Given the description of an element on the screen output the (x, y) to click on. 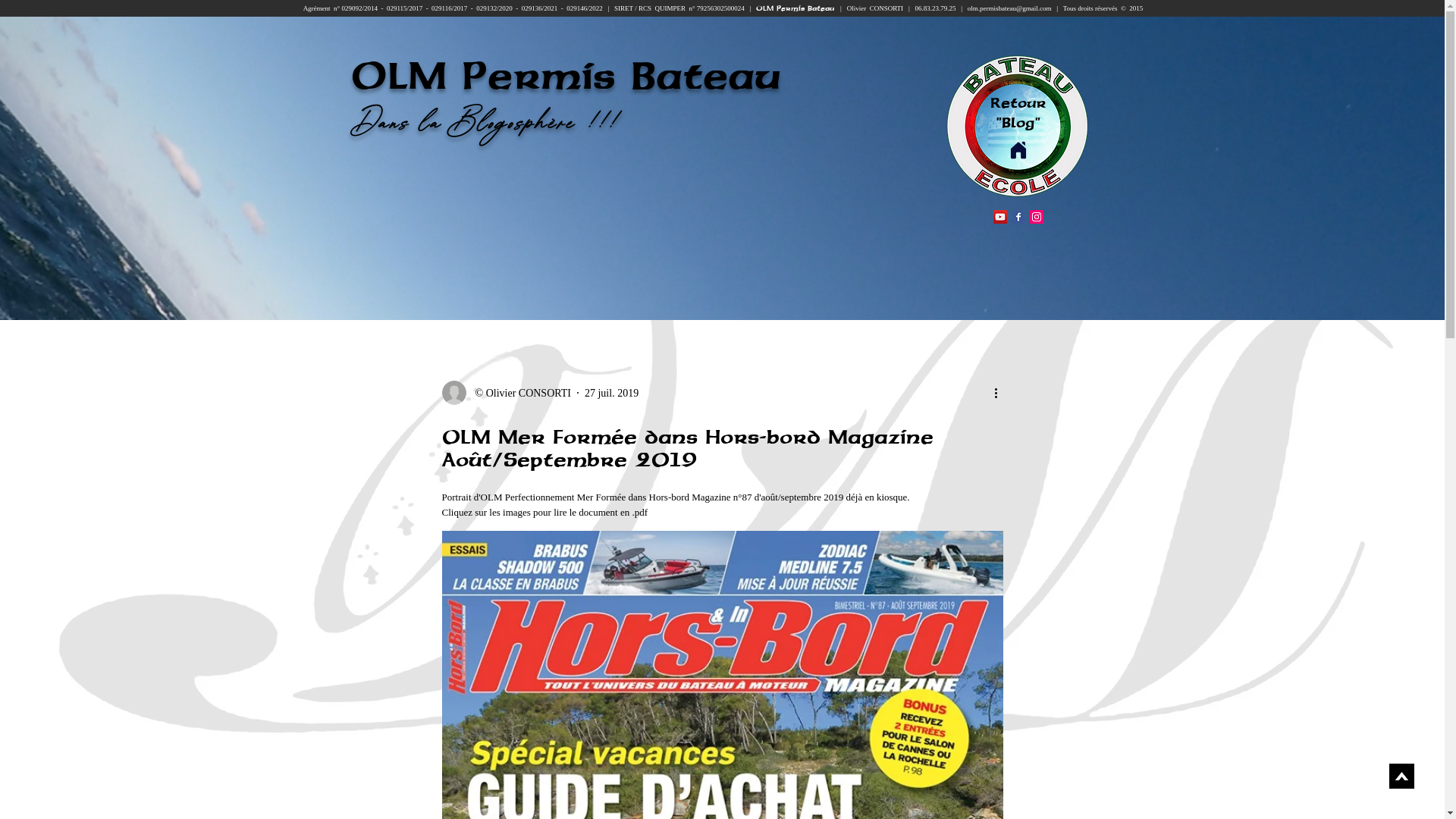
Retour Element type: text (1018, 102)
   06.83.23.79.25    Element type: text (935, 8)
"Blog" Element type: text (1017, 121)
OLM Permis Bateau  Element type: text (798, 7)
| Element type: text (909, 8)
Olivier  CONSORTI    Element type: text (877, 8)
olm.permisbateau@gmail.com   Element type: text (1010, 8)
|    Element type: text (963, 8)
